Given the description of an element on the screen output the (x, y) to click on. 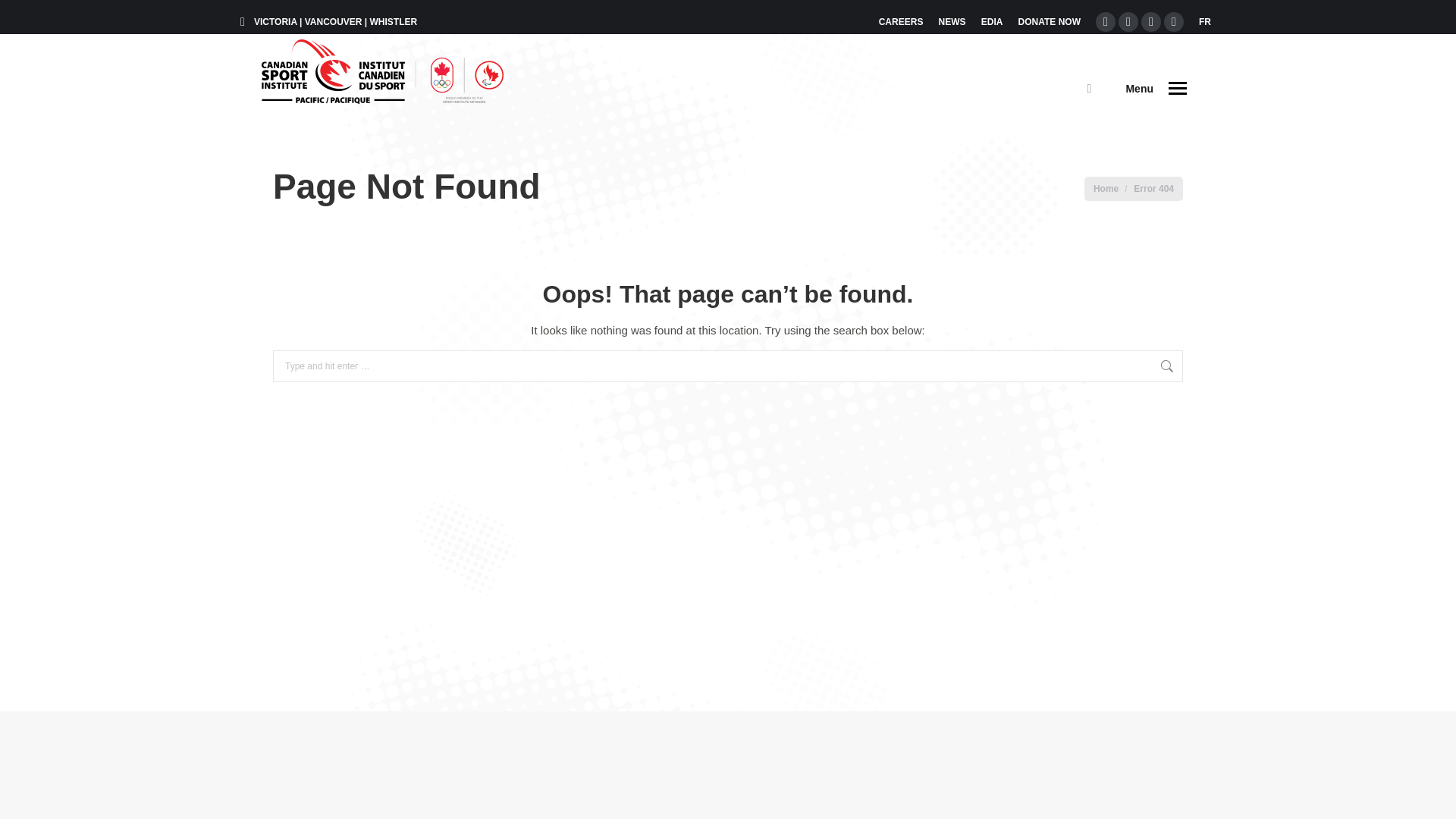
YouTube page opens in new window (1173, 21)
Instagram page opens in new window (1150, 21)
Go! (1203, 363)
Facebook page opens in new window (1105, 21)
X page opens in new window (1128, 21)
Go! (1203, 363)
